Given the description of an element on the screen output the (x, y) to click on. 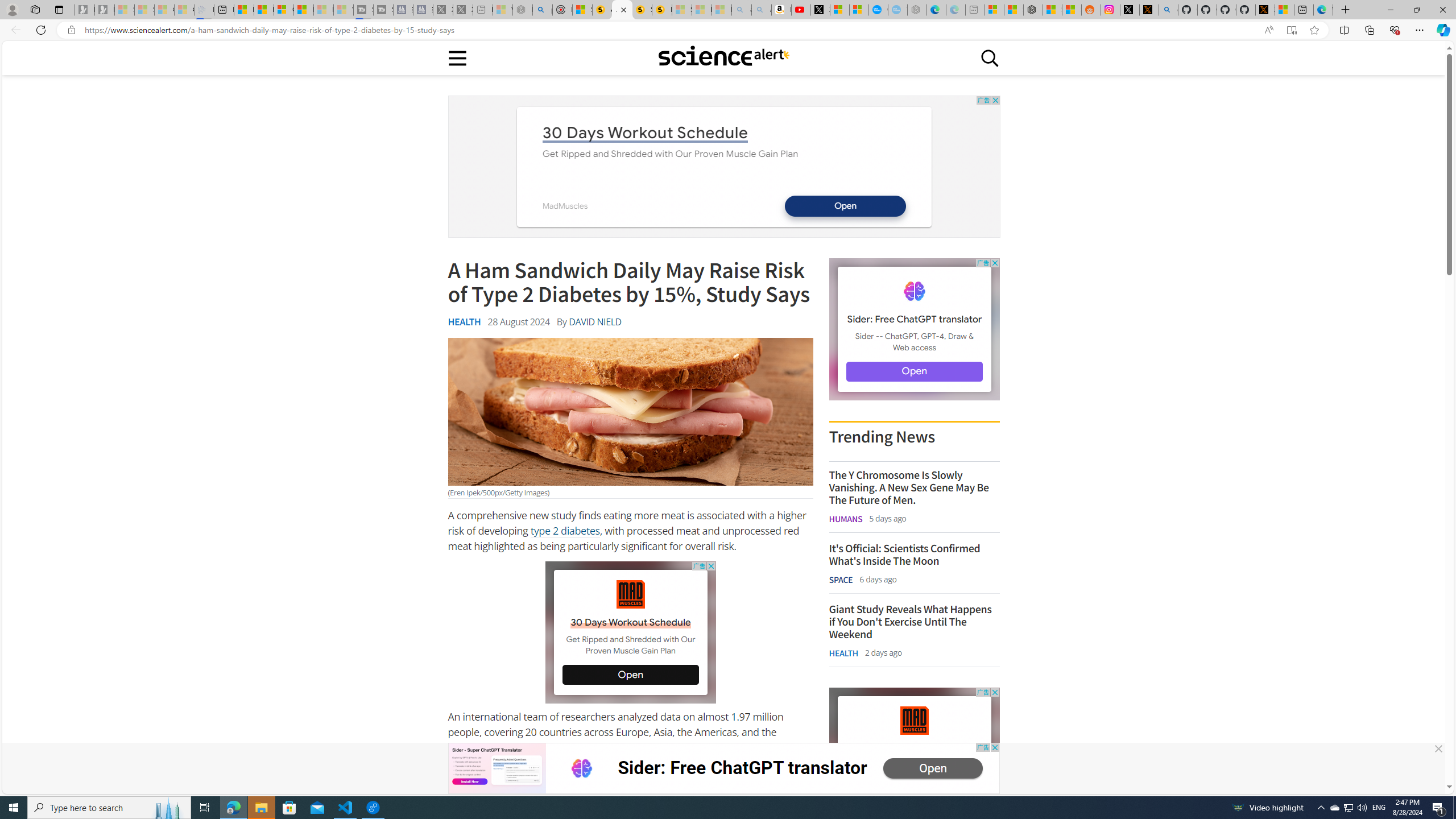
Class: sciencealert-menu-desktop-svg  (456, 57)
Newsletter Sign Up - Sleeping (104, 9)
 processed meat (532, 785)
Microsoft account | Microsoft Account Privacy Settings (994, 9)
Class: sciencealert-logo-desktop-svg  (723, 55)
amazon - Search - Sleeping (741, 9)
X Privacy Policy (1264, 9)
